Given the description of an element on the screen output the (x, y) to click on. 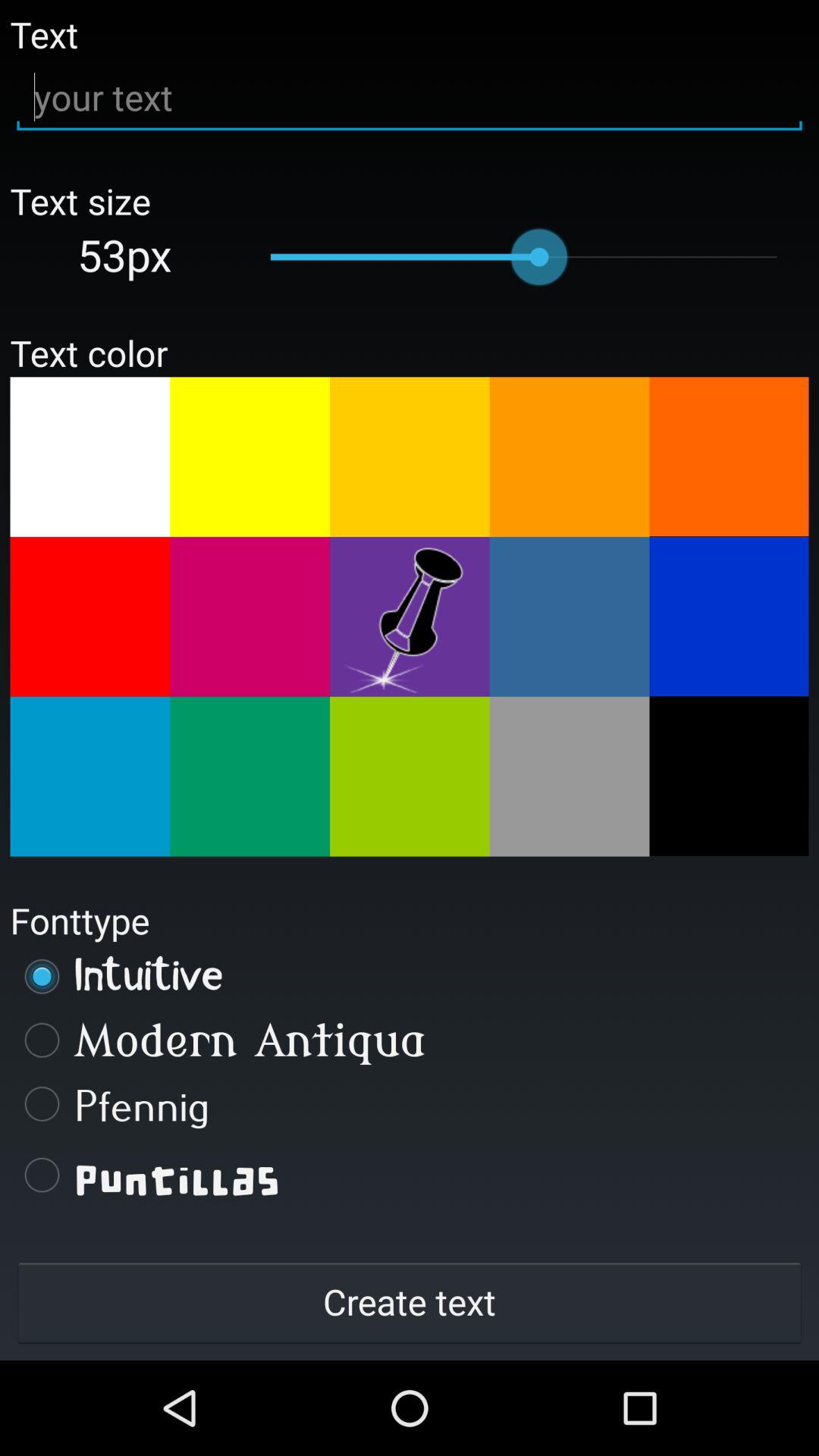
tap the radio button above the pfennig radio button (409, 1040)
